Given the description of an element on the screen output the (x, y) to click on. 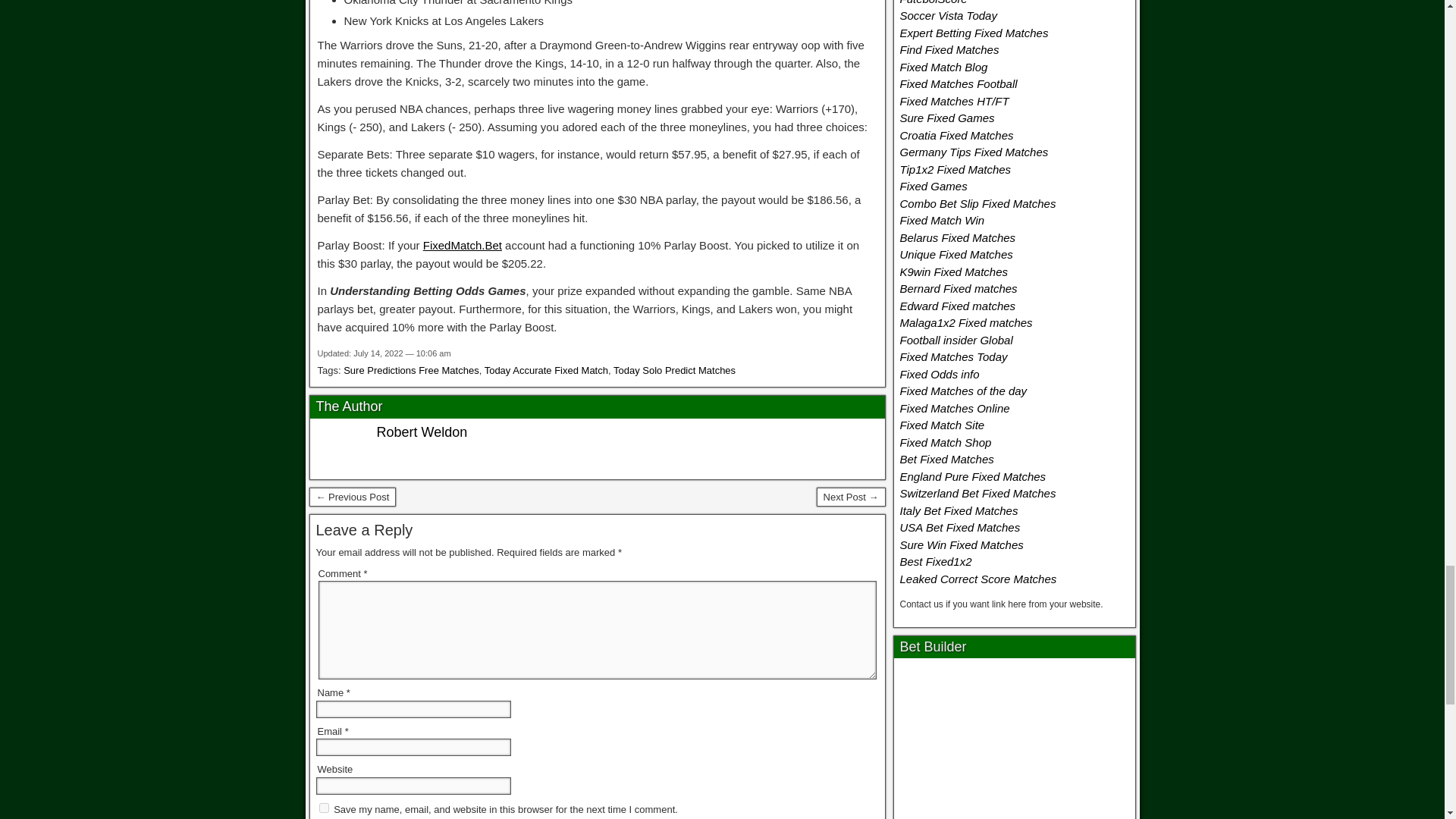
Today Solo Predict Matches (673, 369)
yes (323, 808)
Robert Weldon (421, 432)
Today Accurate Fixed Match (546, 369)
Sure Win Fixed 1x2 Matches Bets (850, 496)
FixedMatch.Bet (462, 245)
Sure Bets 1x2 (352, 496)
Bet Builder Bet365 Bookie (1014, 741)
Sure Predictions Free Matches (411, 369)
